Given the description of an element on the screen output the (x, y) to click on. 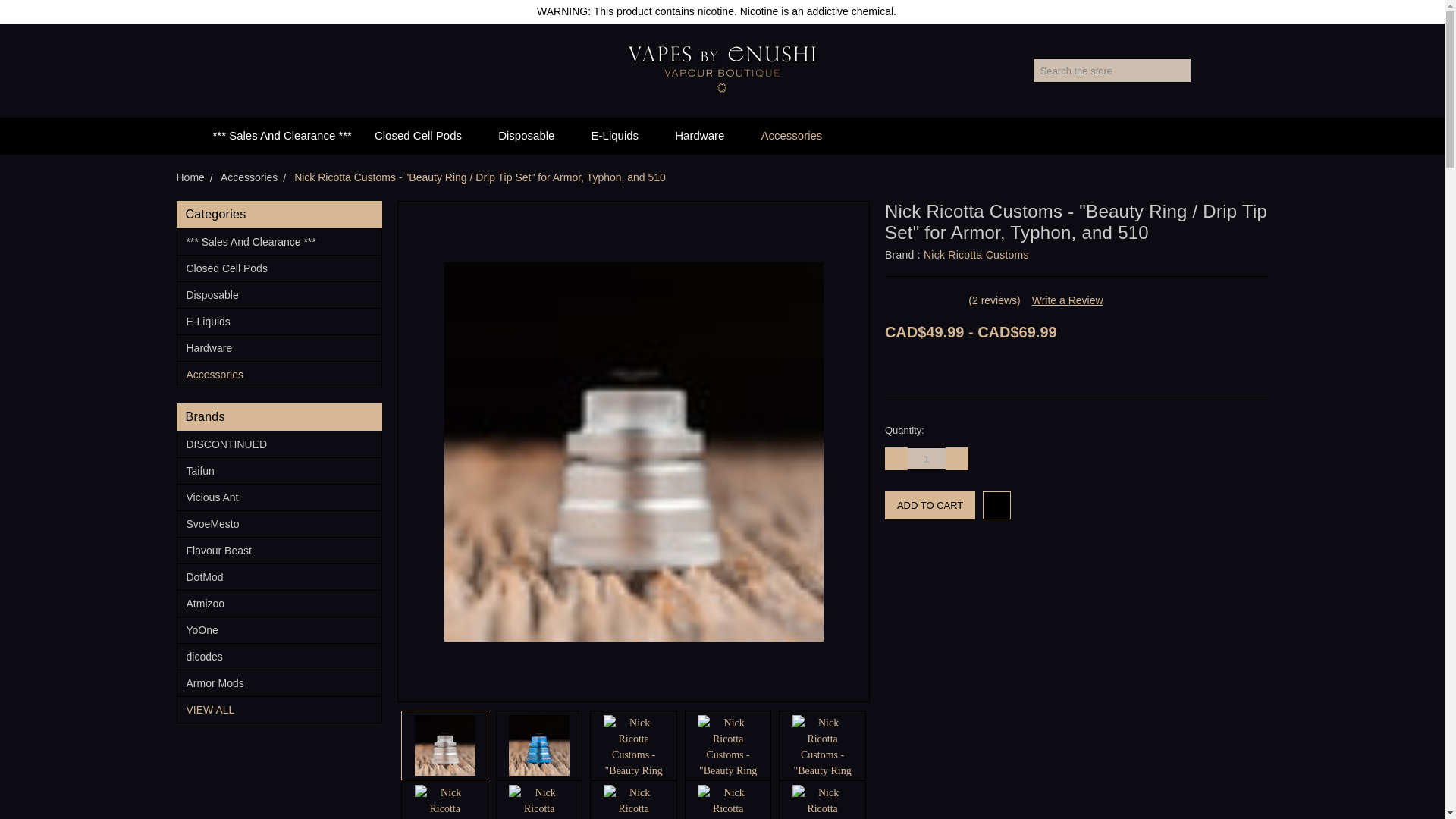
Search (1180, 70)
1 (925, 458)
Add to Cart (930, 505)
Vapes by Enushi (721, 70)
Search (1180, 70)
